Given the description of an element on the screen output the (x, y) to click on. 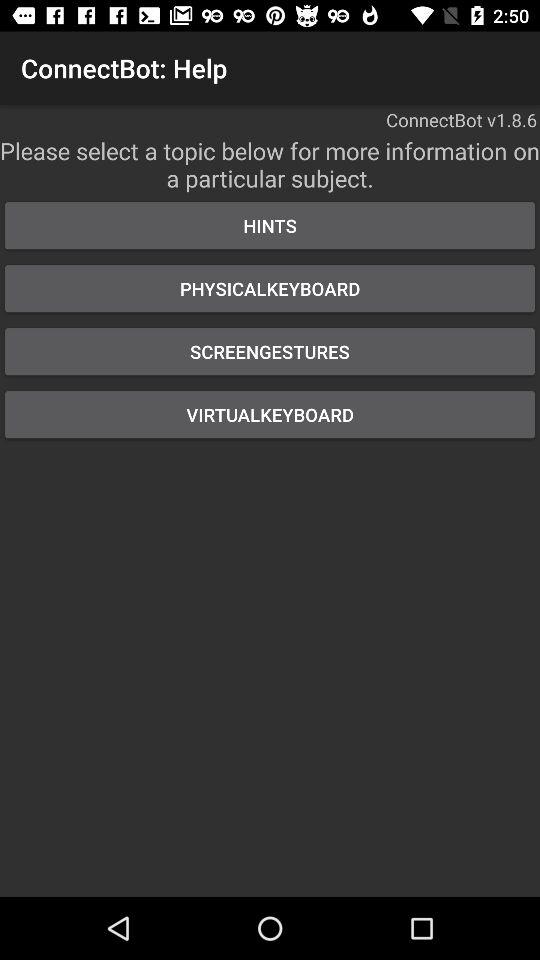
click the physicalkeyboard button (270, 288)
